Given the description of an element on the screen output the (x, y) to click on. 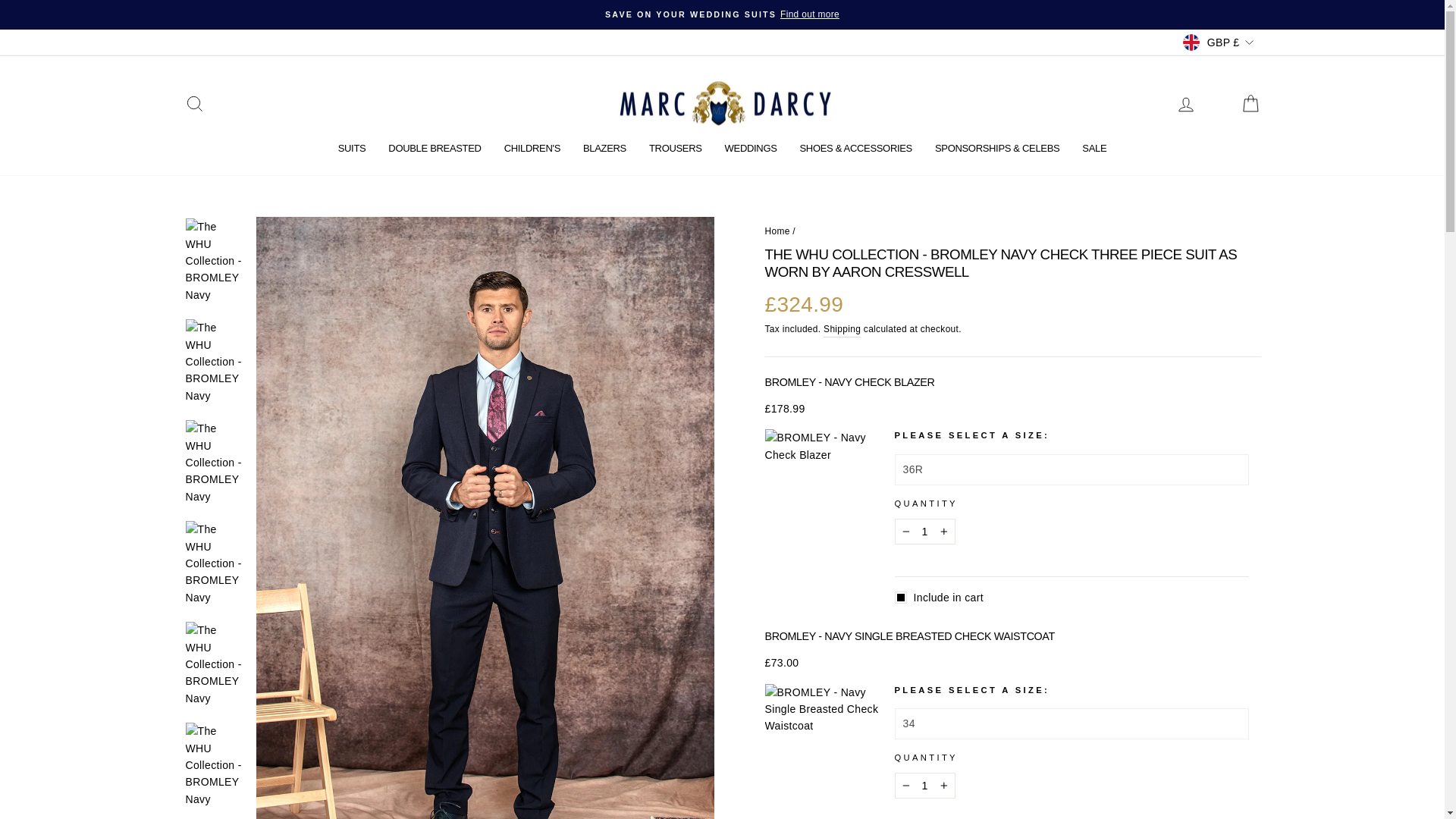
ICON-SEARCH (194, 103)
1 (925, 531)
Back to the frontpage (776, 231)
SAVE ON YOUR WEDDING SUITSFind out more (722, 14)
ACCOUNT (1185, 104)
My Wishlist (1217, 103)
1 (925, 785)
